Given the description of an element on the screen output the (x, y) to click on. 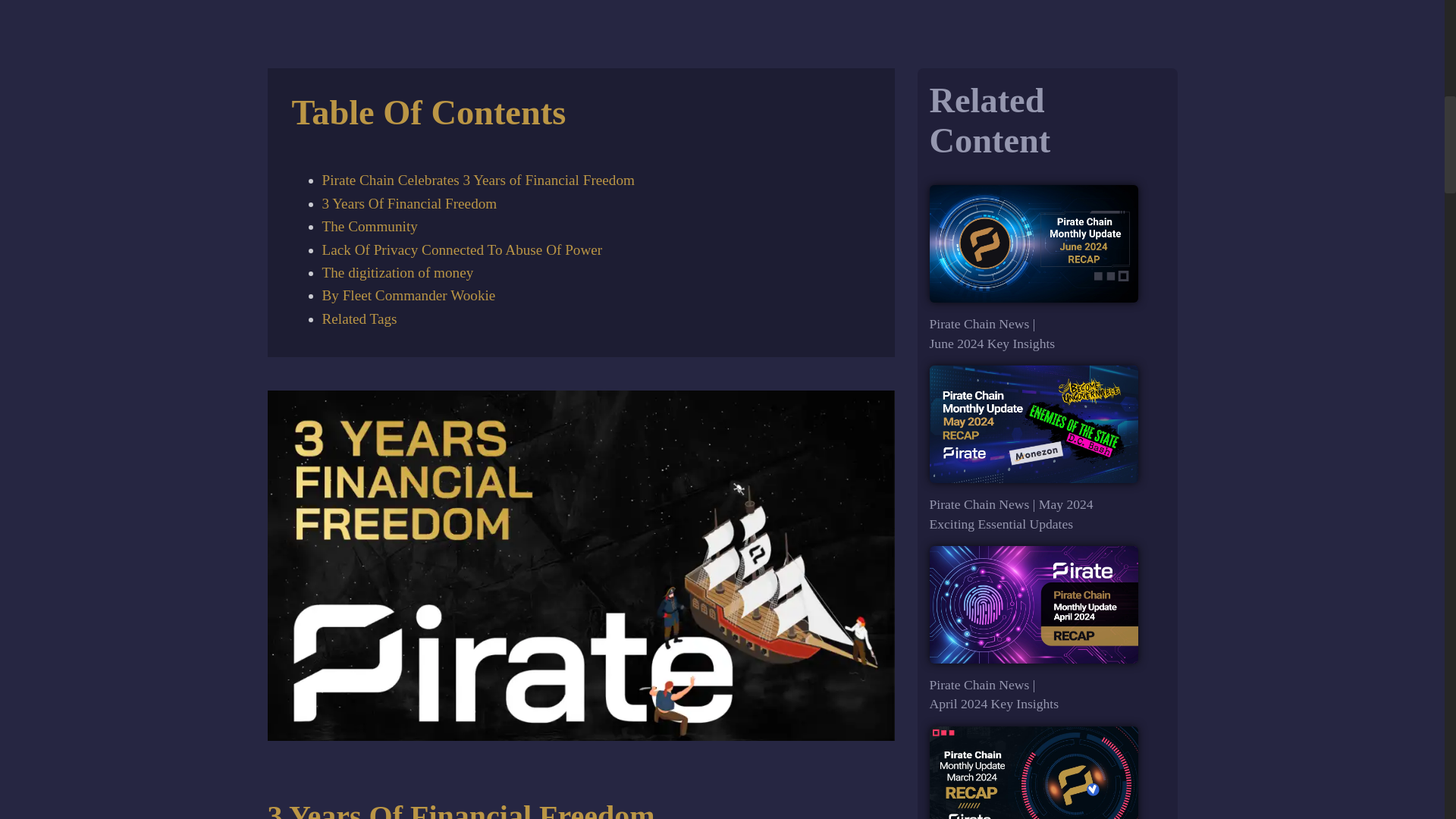
3 Years Of Financial Freedom (408, 203)
The Community (368, 226)
Pirate Chain Celebrates 3 Years of Financial Freedom (477, 179)
